Given the description of an element on the screen output the (x, y) to click on. 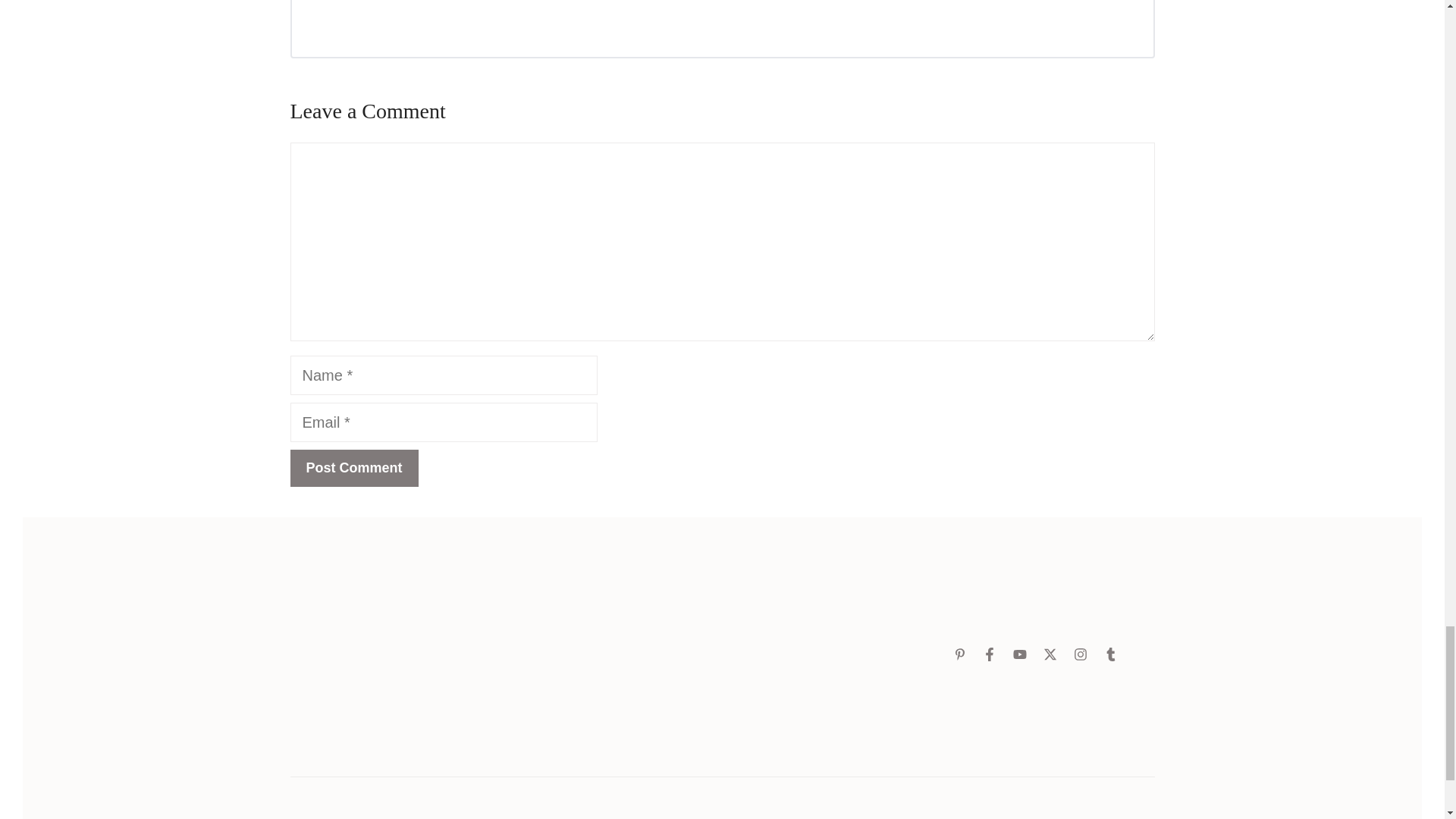
Post Comment (353, 467)
Post Comment (353, 467)
